Given the description of an element on the screen output the (x, y) to click on. 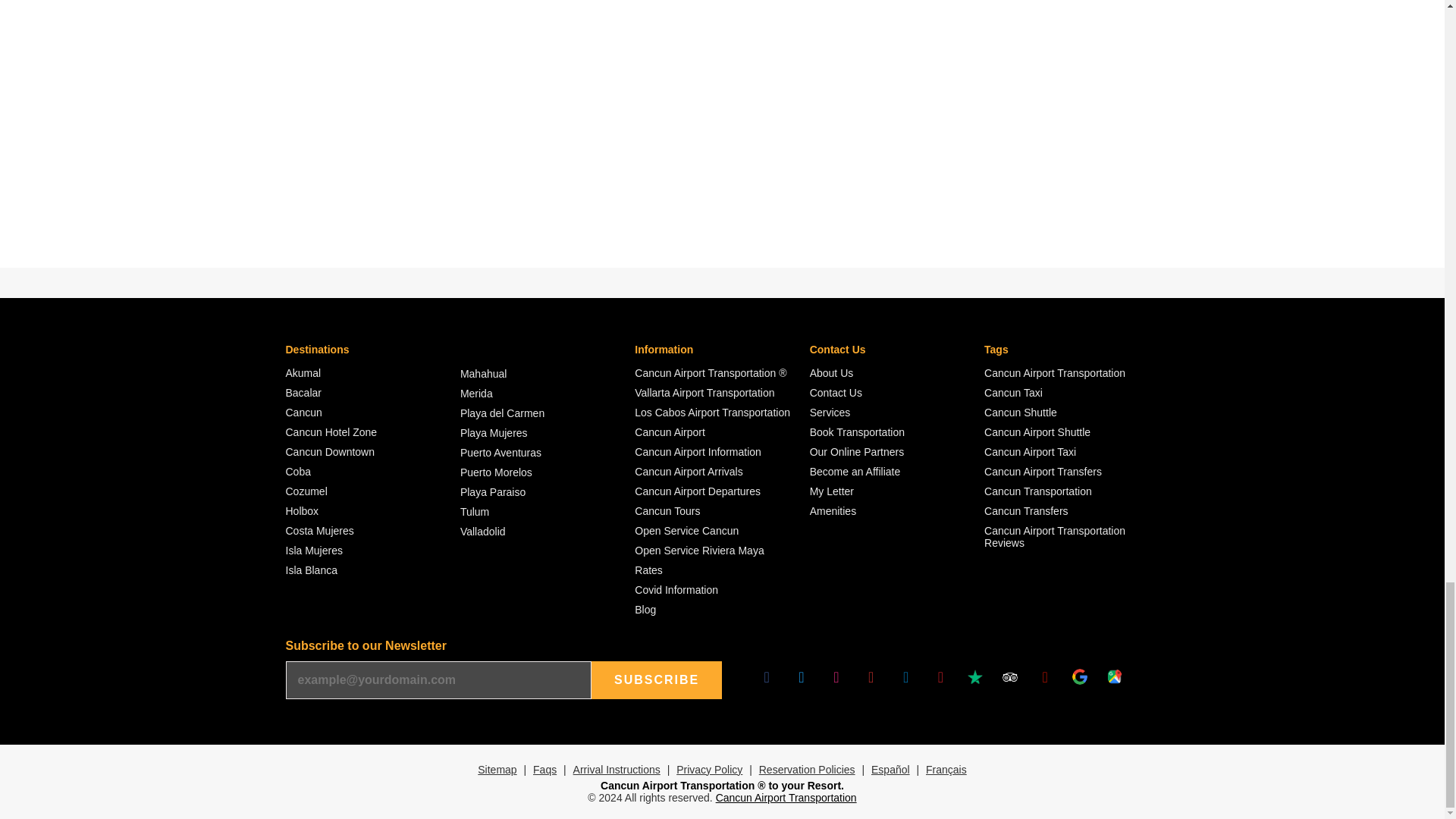
SUBSCRIBE (656, 679)
